Given the description of an element on the screen output the (x, y) to click on. 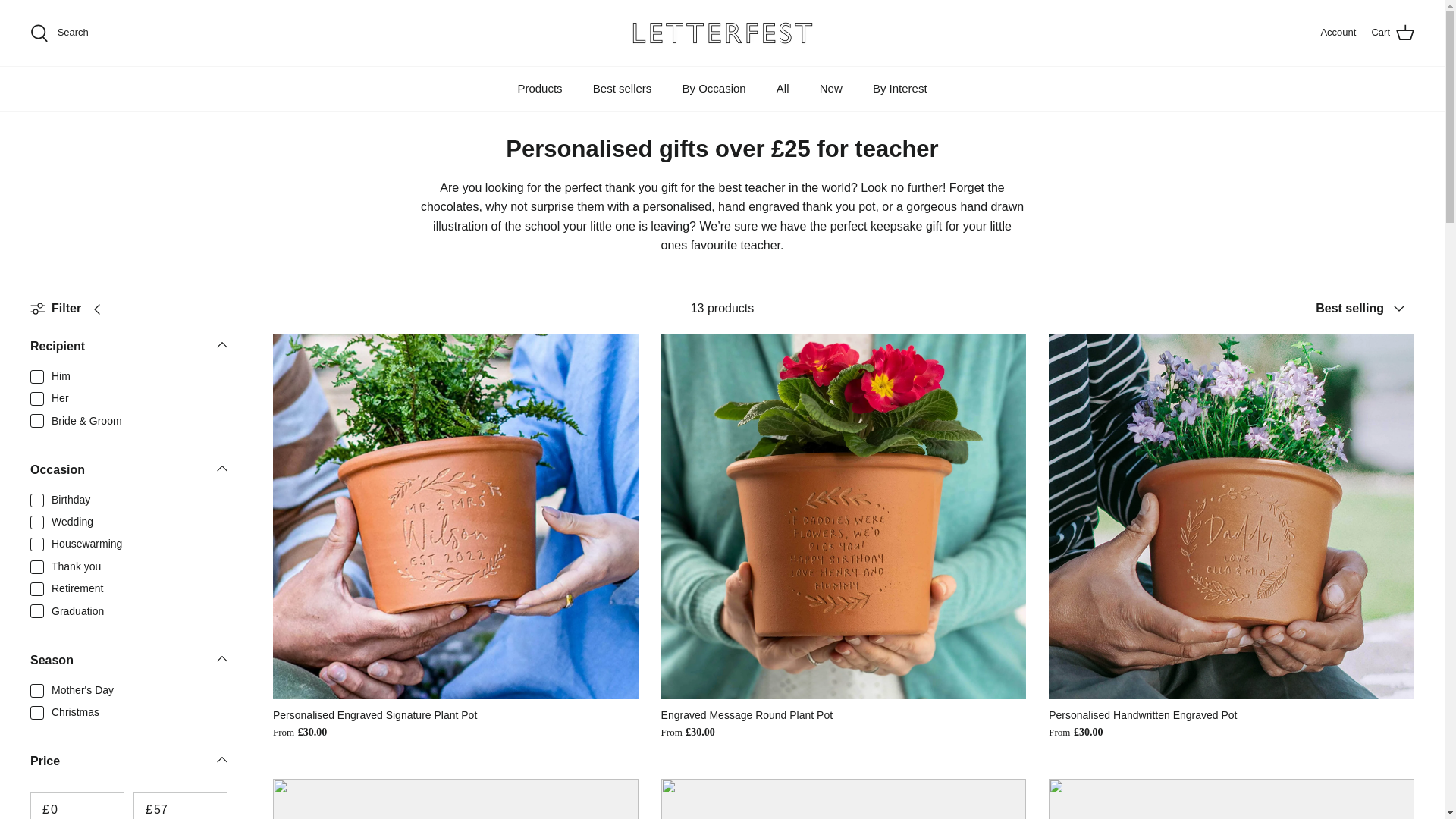
All (782, 88)
Filter (71, 308)
Down (221, 760)
Account (1337, 32)
By Occasion (713, 88)
Products (539, 88)
Down (221, 343)
Search (128, 351)
Her (59, 33)
